Given the description of an element on the screen output the (x, y) to click on. 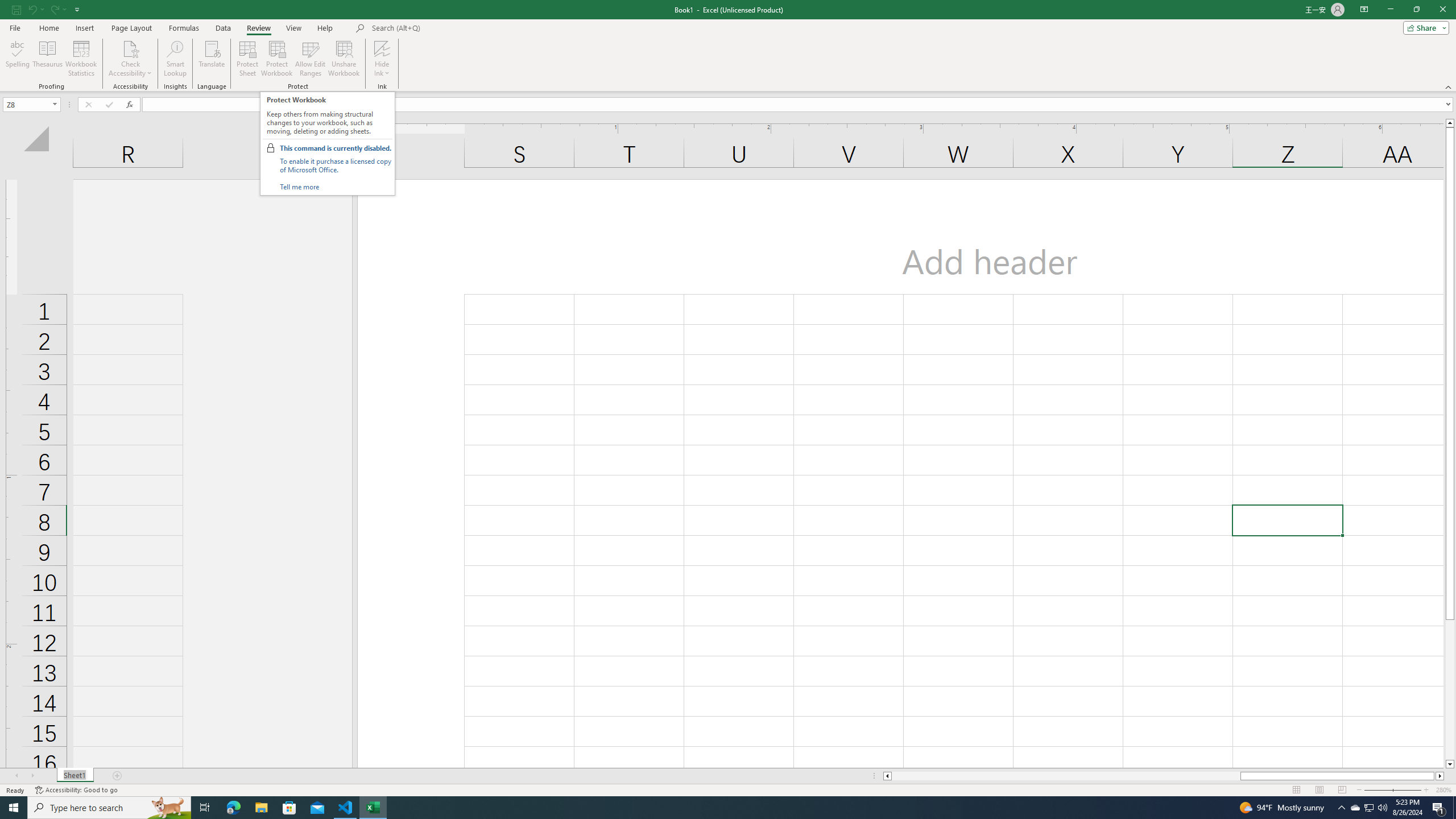
Protect Sheet... (247, 58)
Unshare Workbook (344, 58)
Smart Lookup (175, 58)
